Given the description of an element on the screen output the (x, y) to click on. 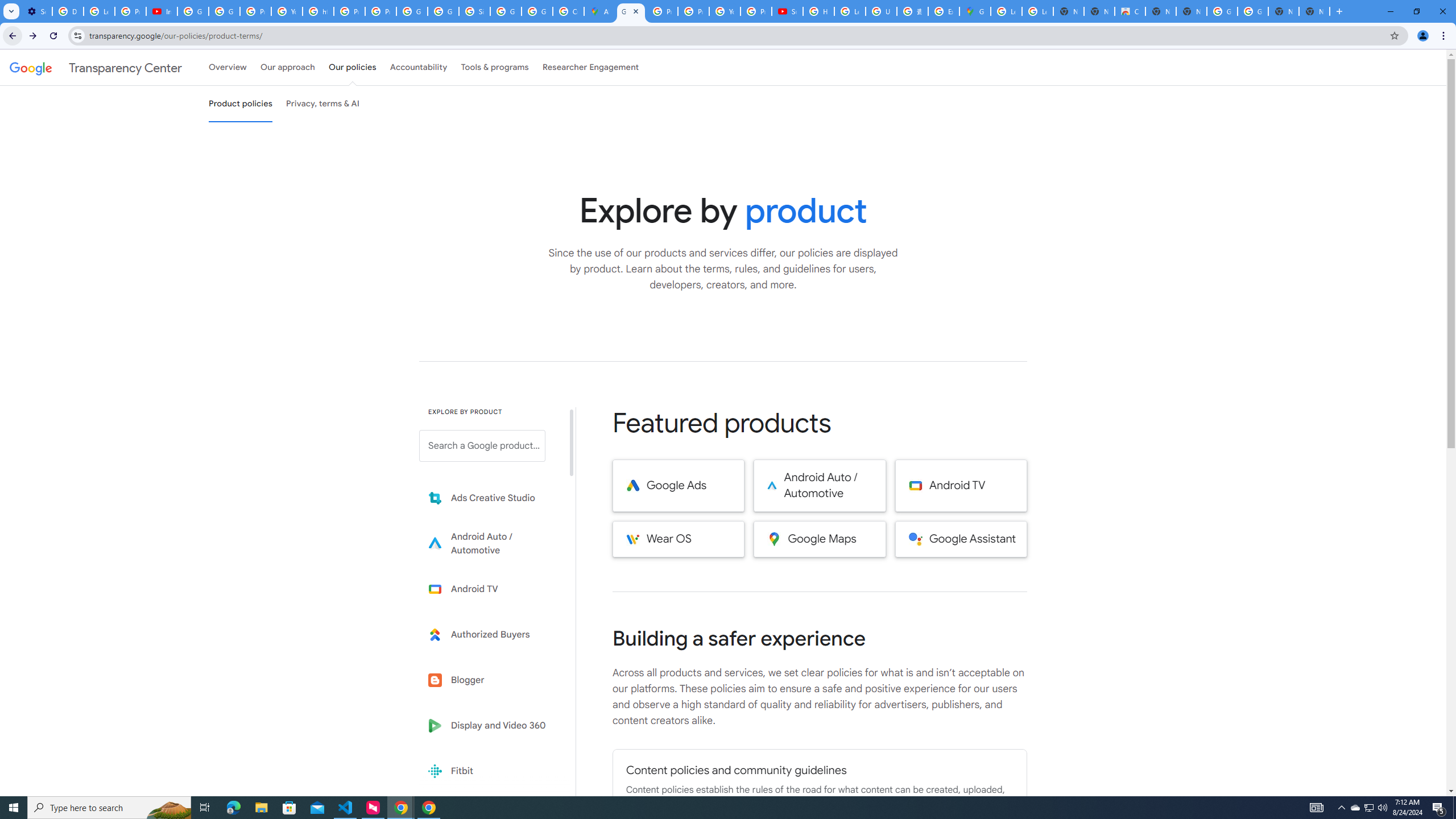
Display and Video 360 (490, 725)
Address and search bar (735, 35)
Fitbit (490, 770)
Wear OS (678, 538)
Google Account Help (192, 11)
Overview (226, 67)
